Given the description of an element on the screen output the (x, y) to click on. 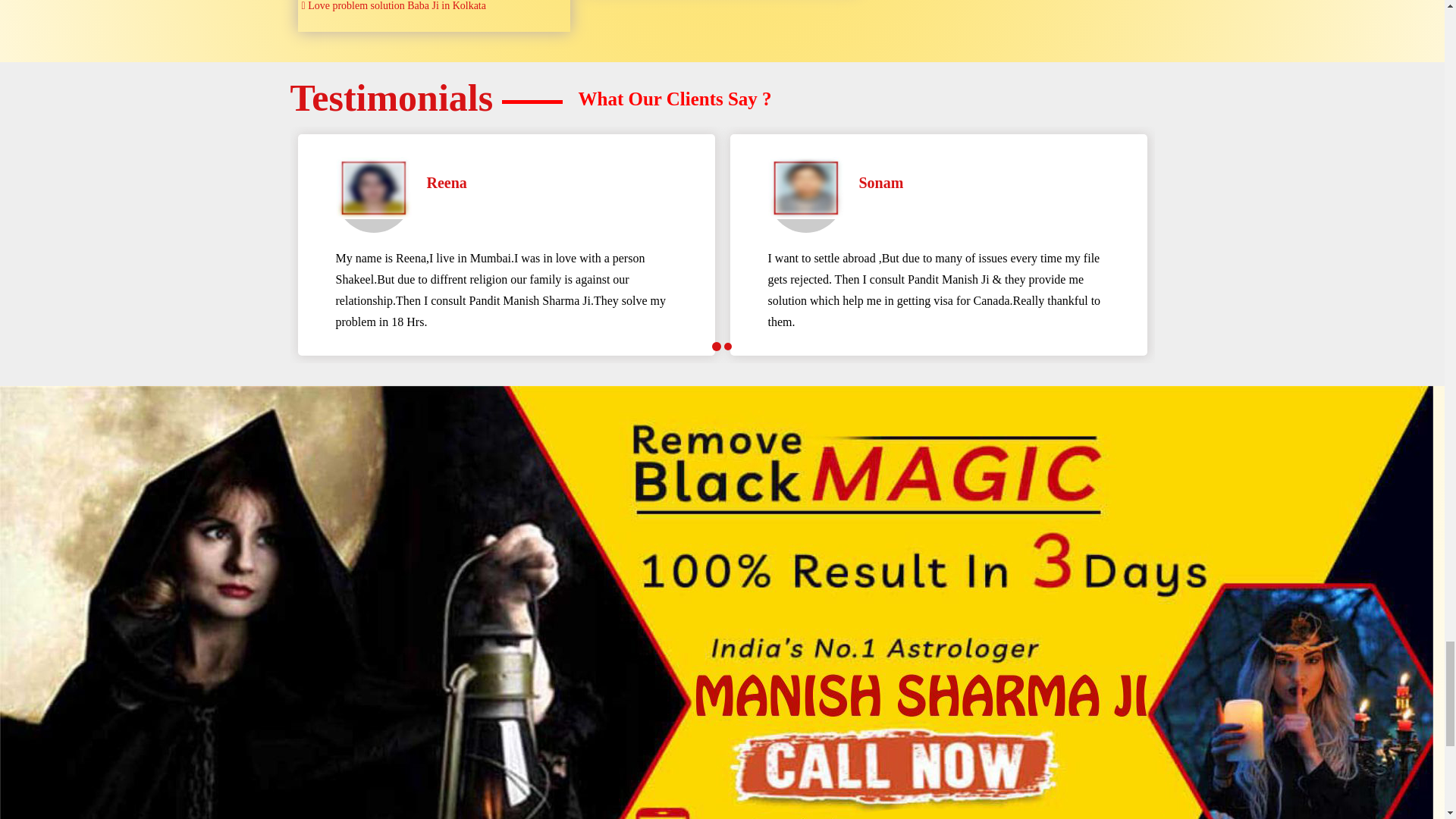
 Love problem solution Baba Ji in Kolkata (433, 8)
